Given the description of an element on the screen output the (x, y) to click on. 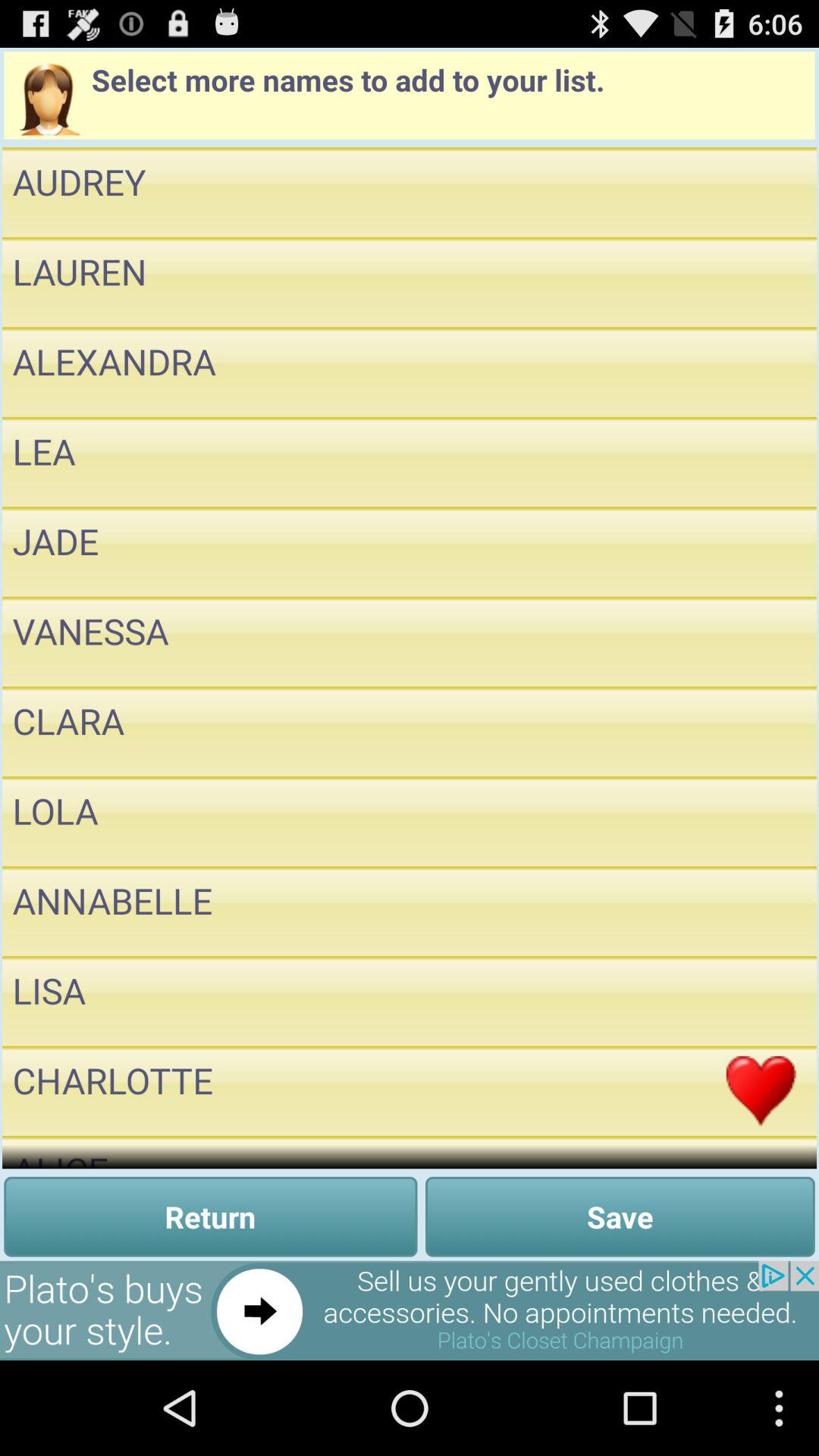
if you click here it would add lea to the list (761, 462)
